Given the description of an element on the screen output the (x, y) to click on. 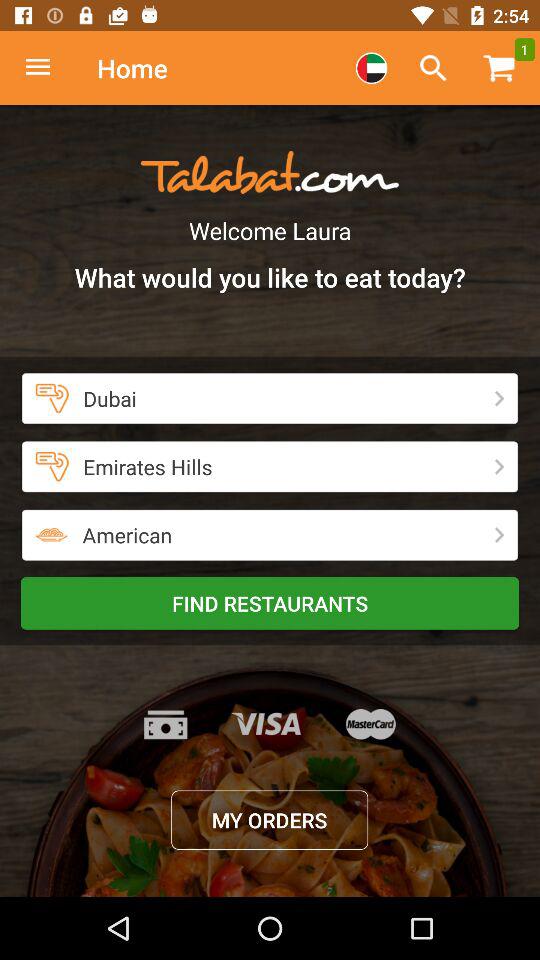
go to search (433, 68)
